Given the description of an element on the screen output the (x, y) to click on. 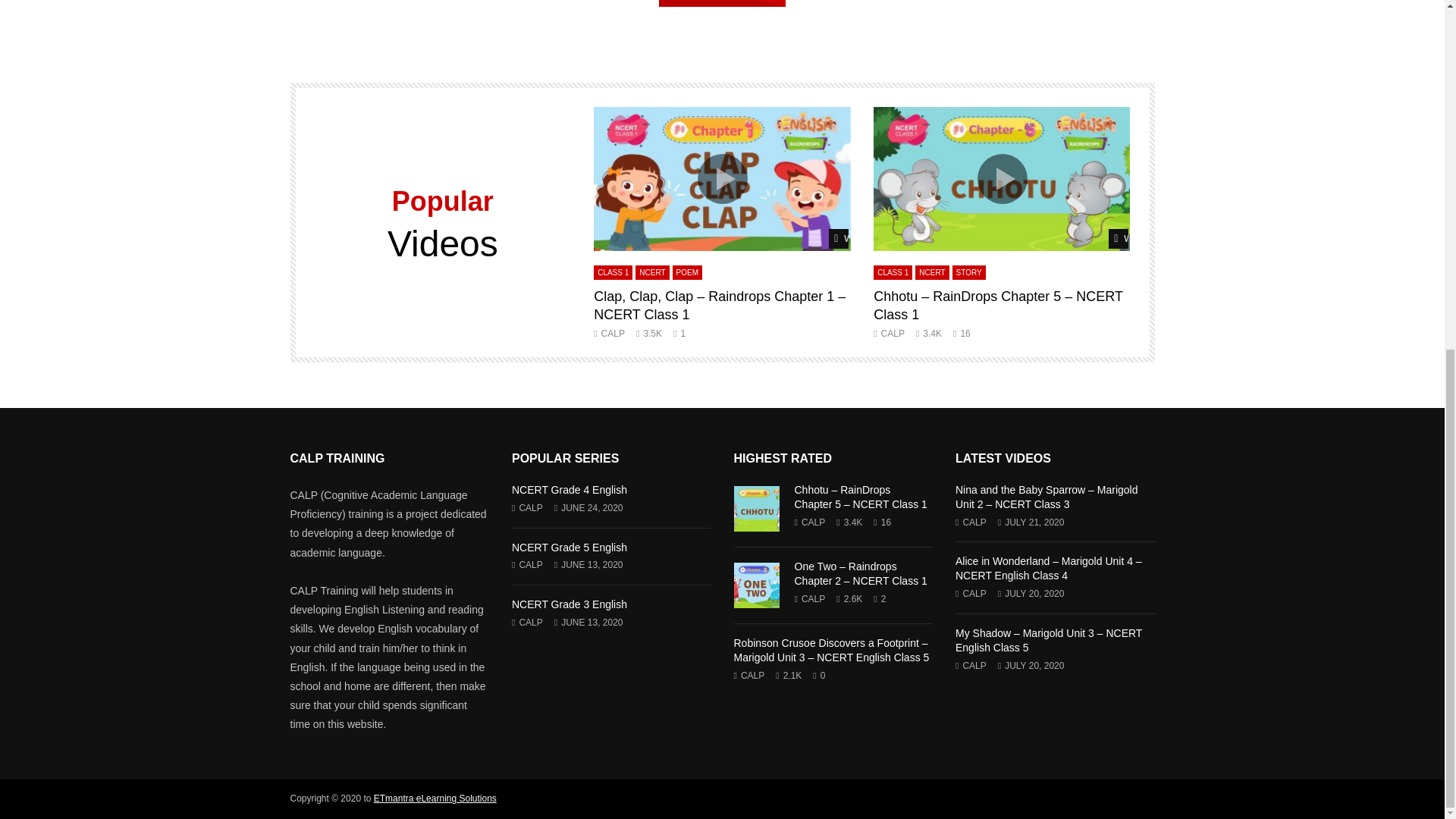
BACK TO HOMEPAGE (722, 2)
